Given the description of an element on the screen output the (x, y) to click on. 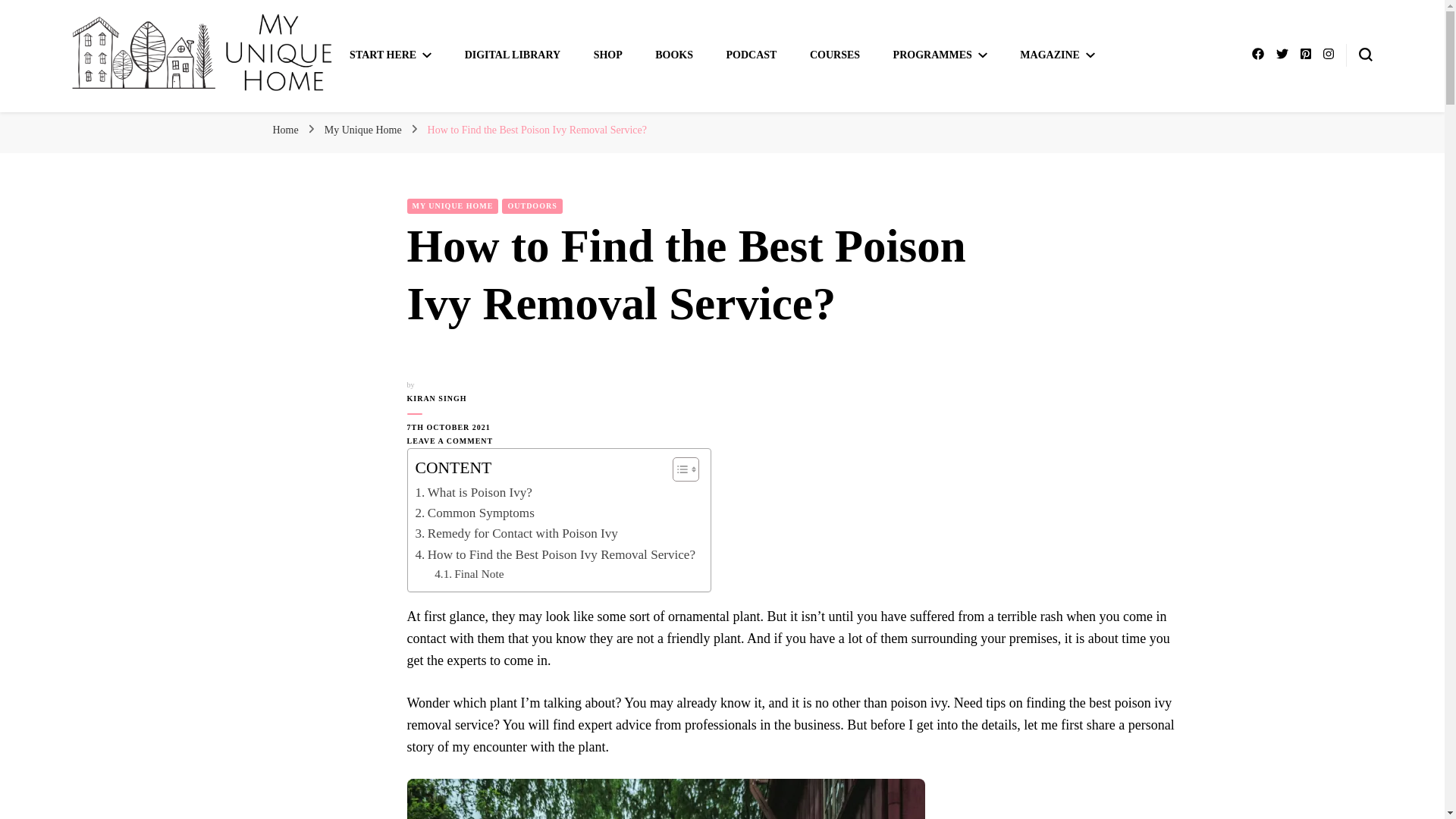
Common Symptoms (474, 512)
How to Find the Best Poison Ivy Removal Service? (554, 554)
Remedy for Contact with Poison Ivy (515, 533)
What is Poison Ivy? (473, 492)
Final Note (468, 574)
